Given the description of an element on the screen output the (x, y) to click on. 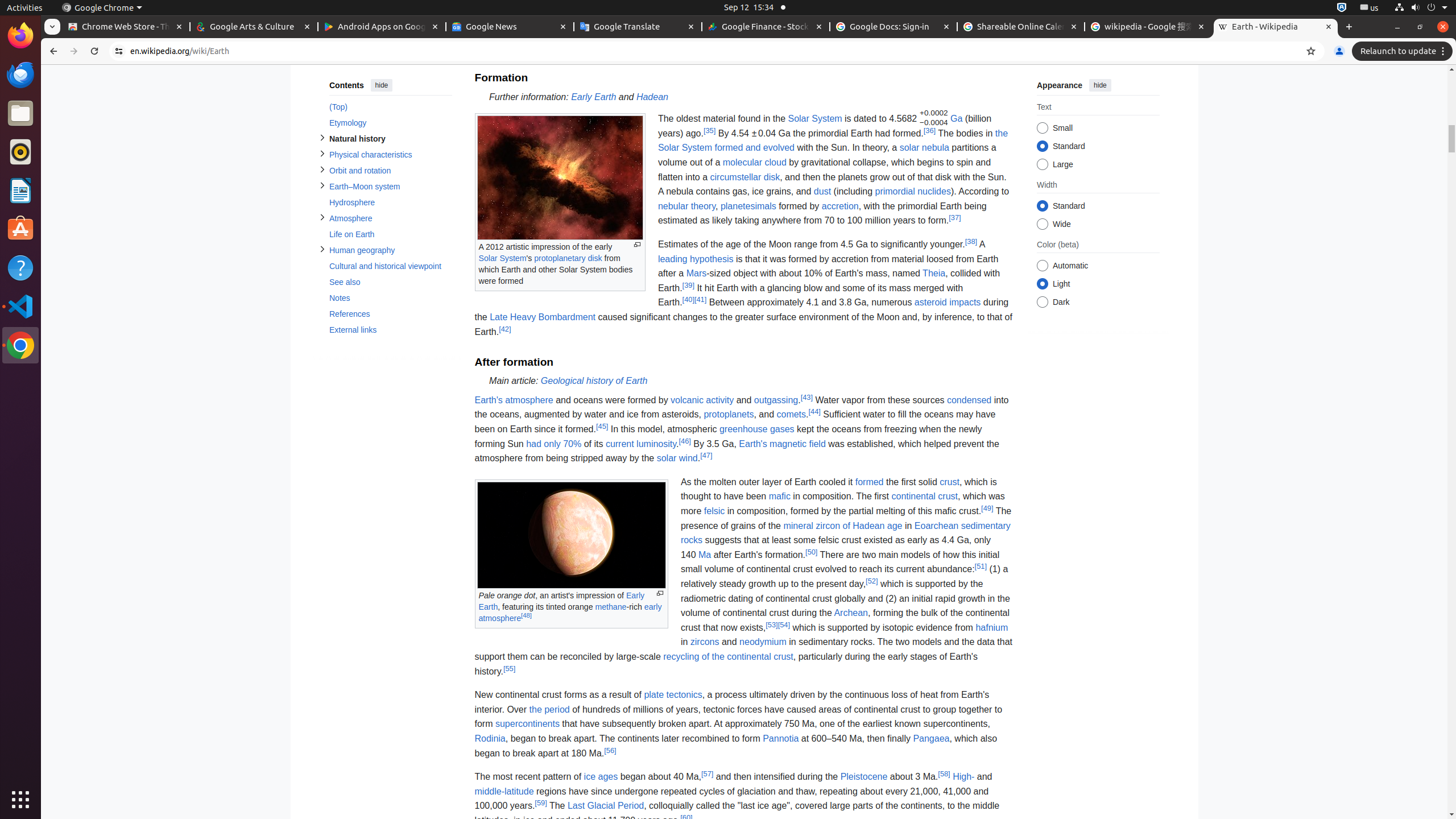
Notes Element type: link (390, 298)
Rodinia Element type: link (489, 738)
Toggle Natural history subsection Element type: push-button (321, 137)
recycling of the continental crust Element type: link (728, 656)
[41] Element type: link (699, 299)
